Given the description of an element on the screen output the (x, y) to click on. 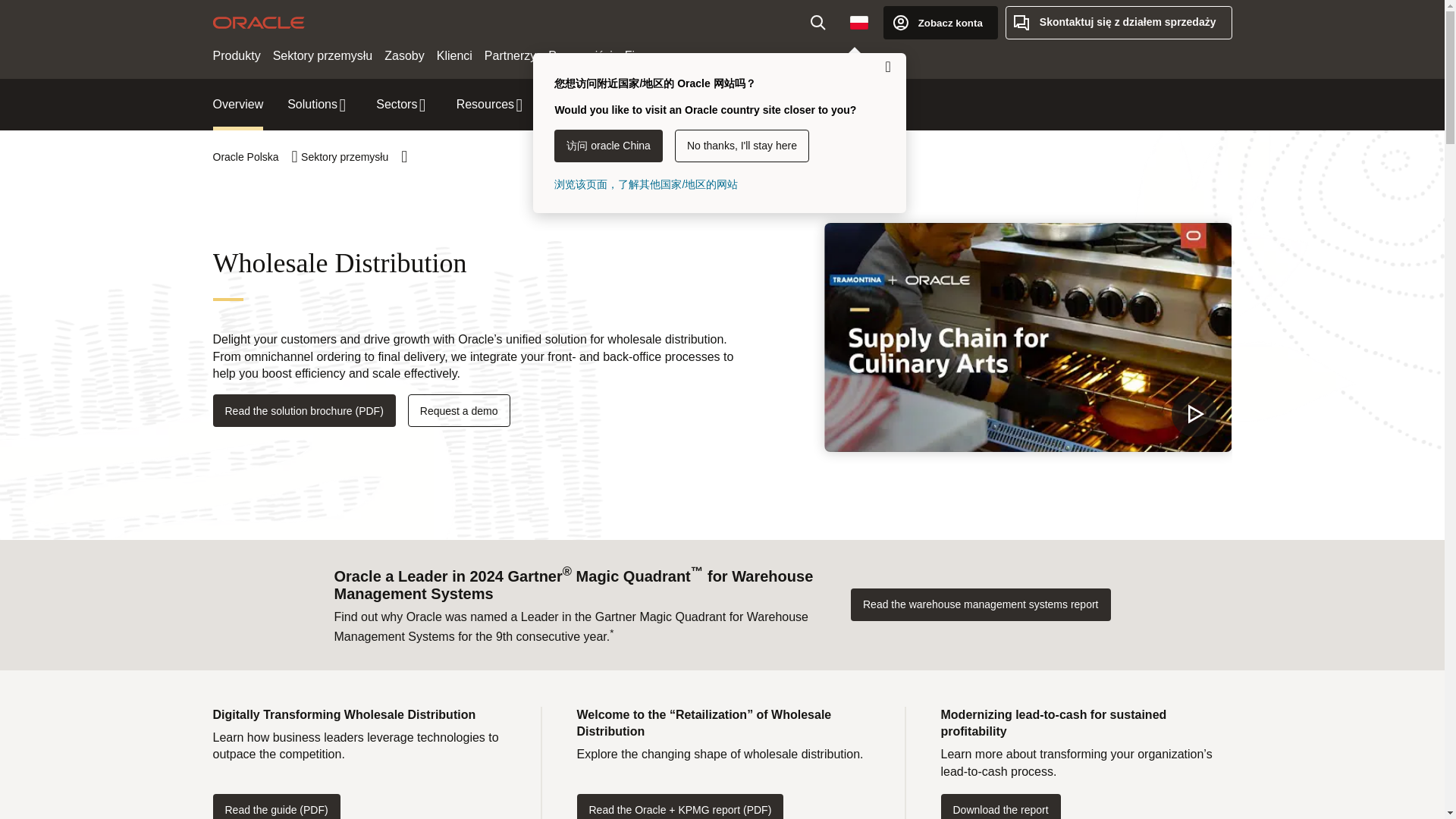
Country (859, 22)
Zasoby (403, 55)
Klienci (454, 55)
Overview (237, 104)
Partnerzy (510, 55)
Zobacz konta (940, 22)
Request a demo (459, 409)
Produkty (236, 55)
Firma (640, 55)
No thanks, I'll stay here (742, 145)
